Given the description of an element on the screen output the (x, y) to click on. 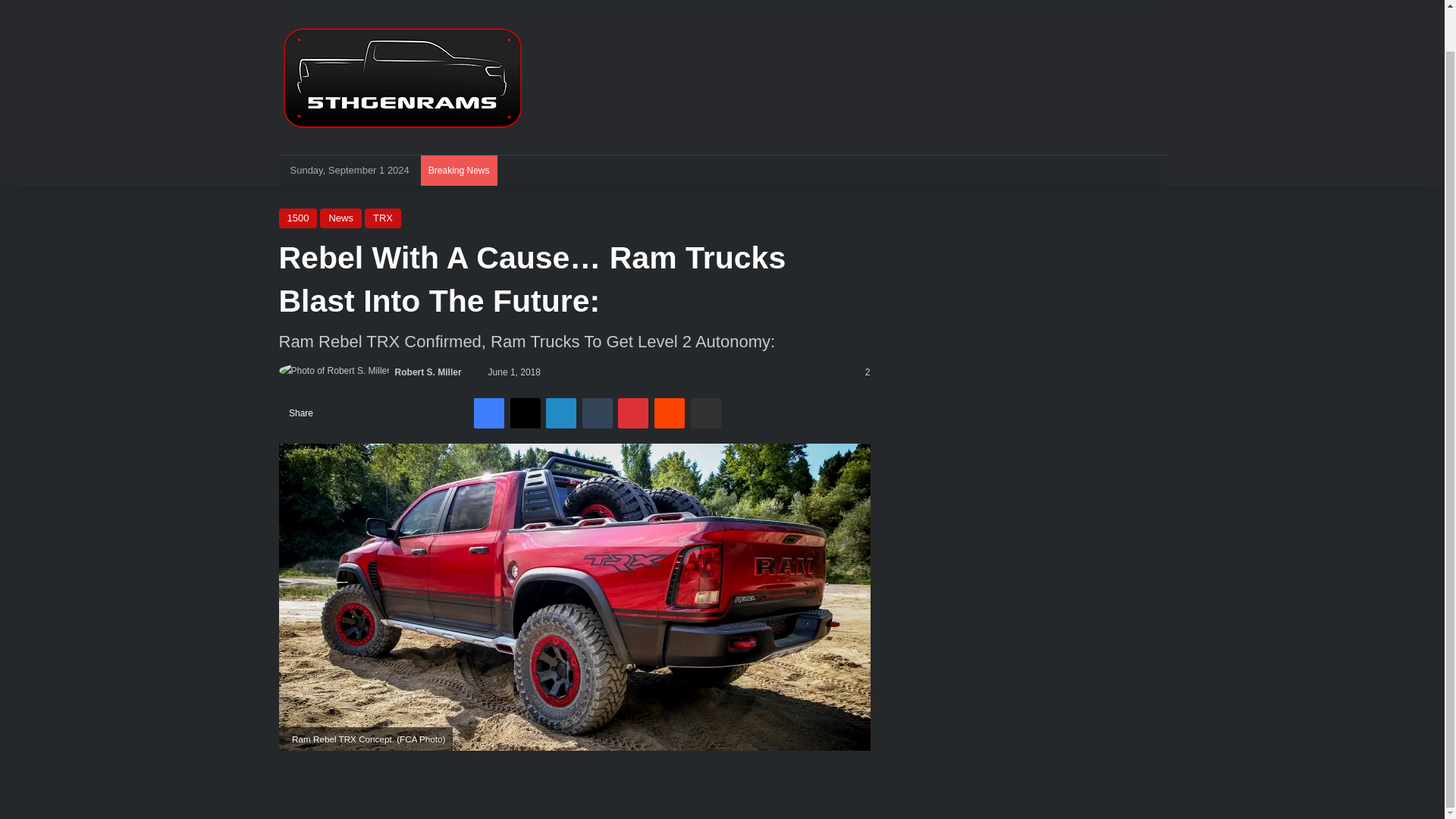
CONTACT US (919, 1)
Tumblr (597, 413)
News (340, 218)
FORUMS (312, 1)
Robert S. Miller (427, 371)
5th Gen Rams (401, 78)
Facebook (488, 413)
TRX (601, 1)
2019 RAM 1500 REVEAL (501, 1)
Pinterest (632, 413)
